Given the description of an element on the screen output the (x, y) to click on. 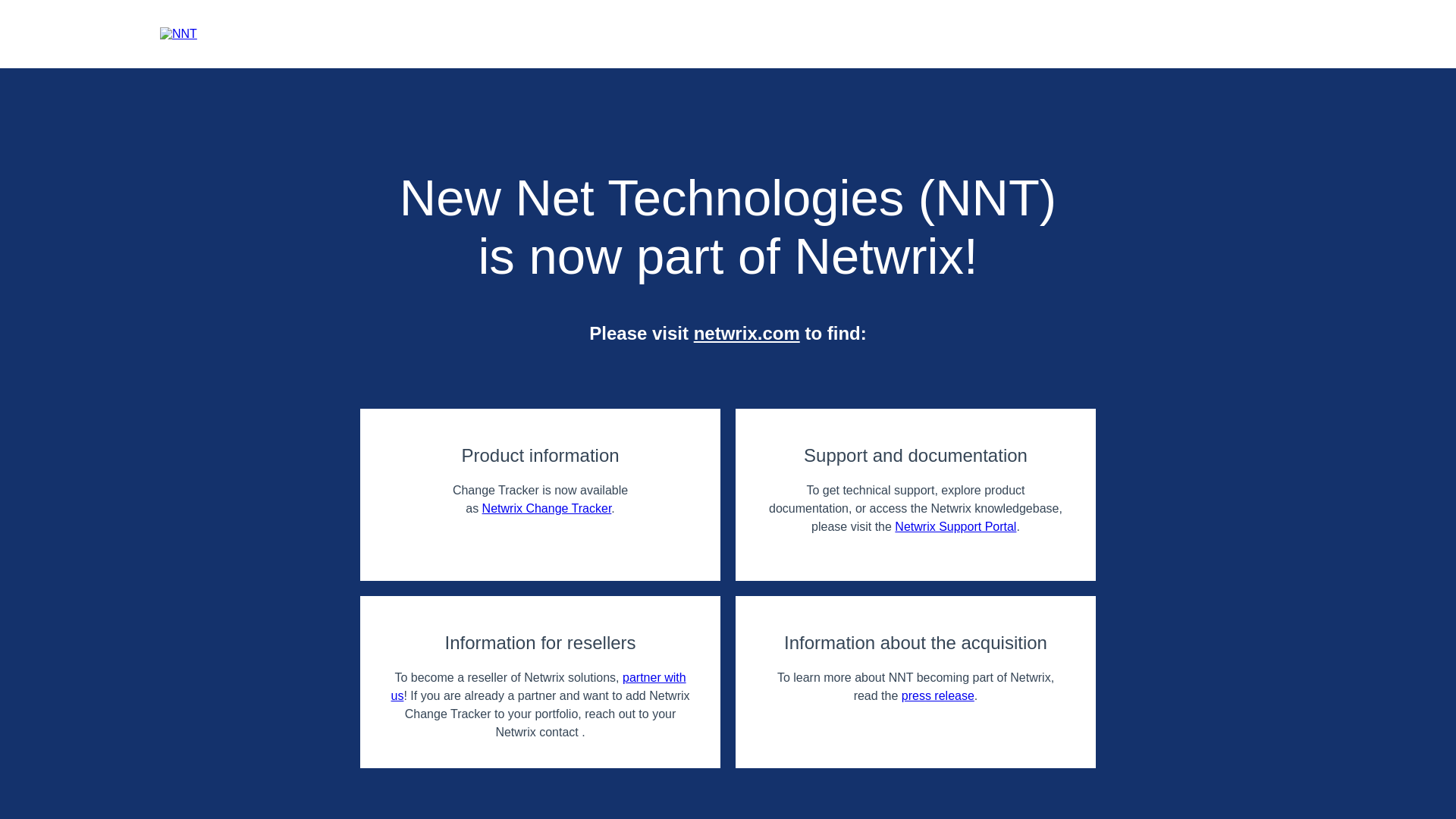
Netwrix Change Tracker (546, 508)
partner with us (538, 685)
press release (937, 695)
netwrix.com (746, 332)
Netwrix Support Portal (955, 526)
